Given the description of an element on the screen output the (x, y) to click on. 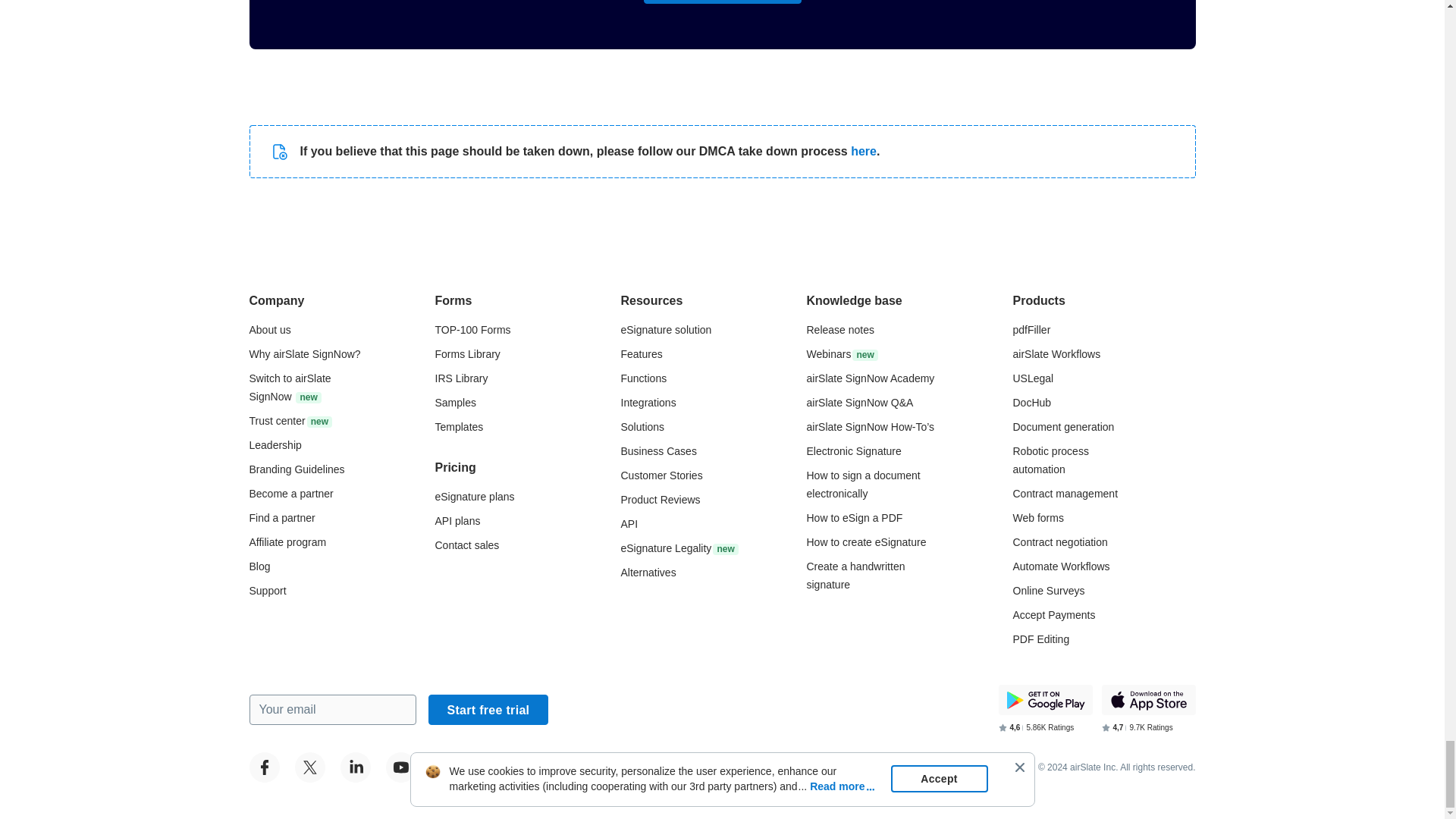
Go to the  airSlate signNow  forms library page (467, 354)
Go to the Migrate page (289, 387)
Go to the support center (266, 590)
Go to the trust center page (289, 420)
Go to the leadership page (274, 444)
Go to the About Us page (268, 329)
Go to the partners page (281, 517)
Go to the affiliate program page (287, 541)
Go to the airSlate partner portal (290, 493)
Go to the top 100 forms page (473, 329)
Go to the Why  airSlate signNow ? page (303, 354)
Go to the  airSlate signNow  pricing page (475, 496)
Go to the  airSlate signNow  irs library page (461, 378)
Go to the sample documents page (455, 402)
Go to the Brand page (295, 469)
